Given the description of an element on the screen output the (x, y) to click on. 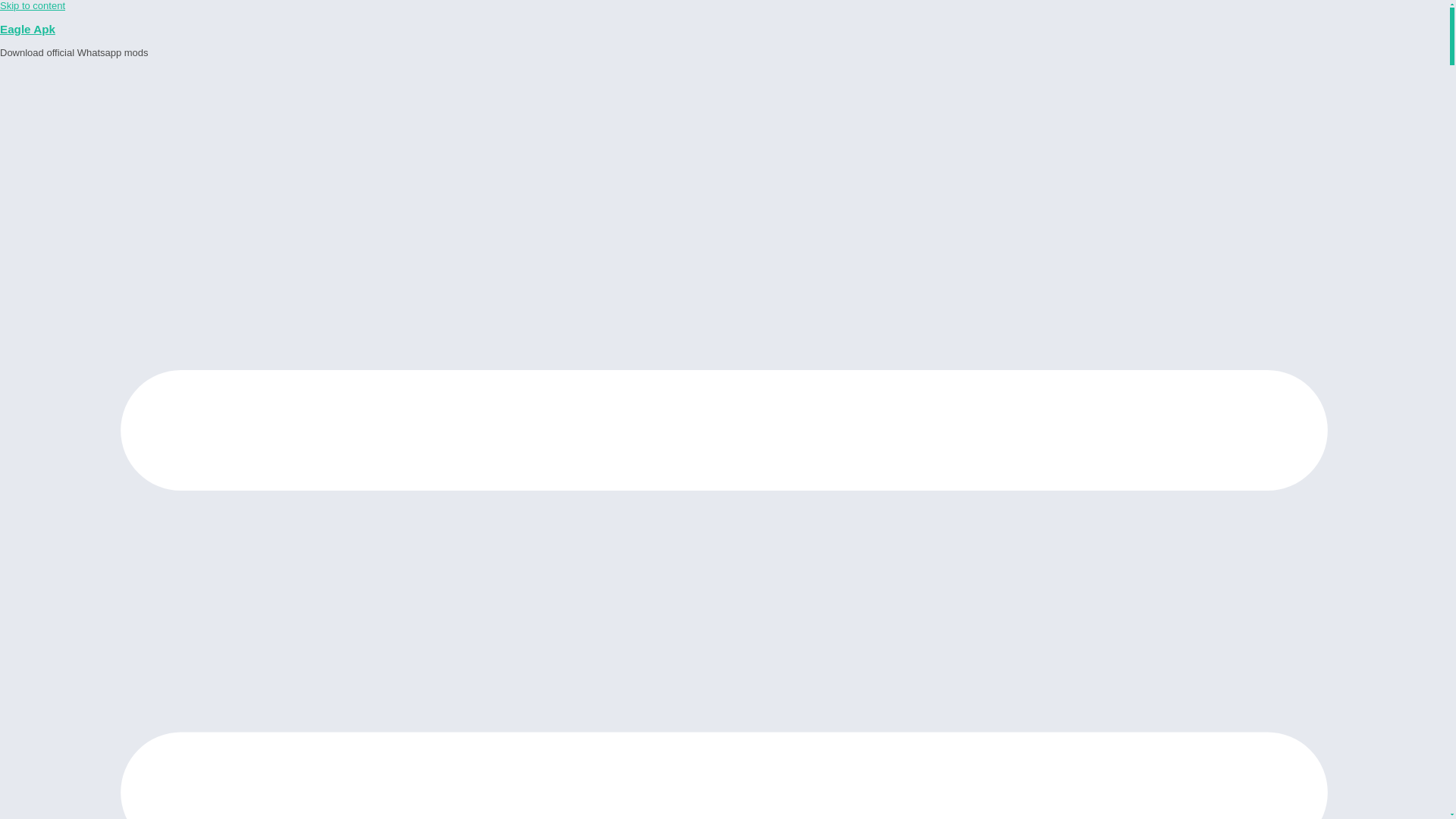
Eagle Apk (27, 29)
Eagle Apk (27, 29)
Skip to content (32, 5)
